Given the description of an element on the screen output the (x, y) to click on. 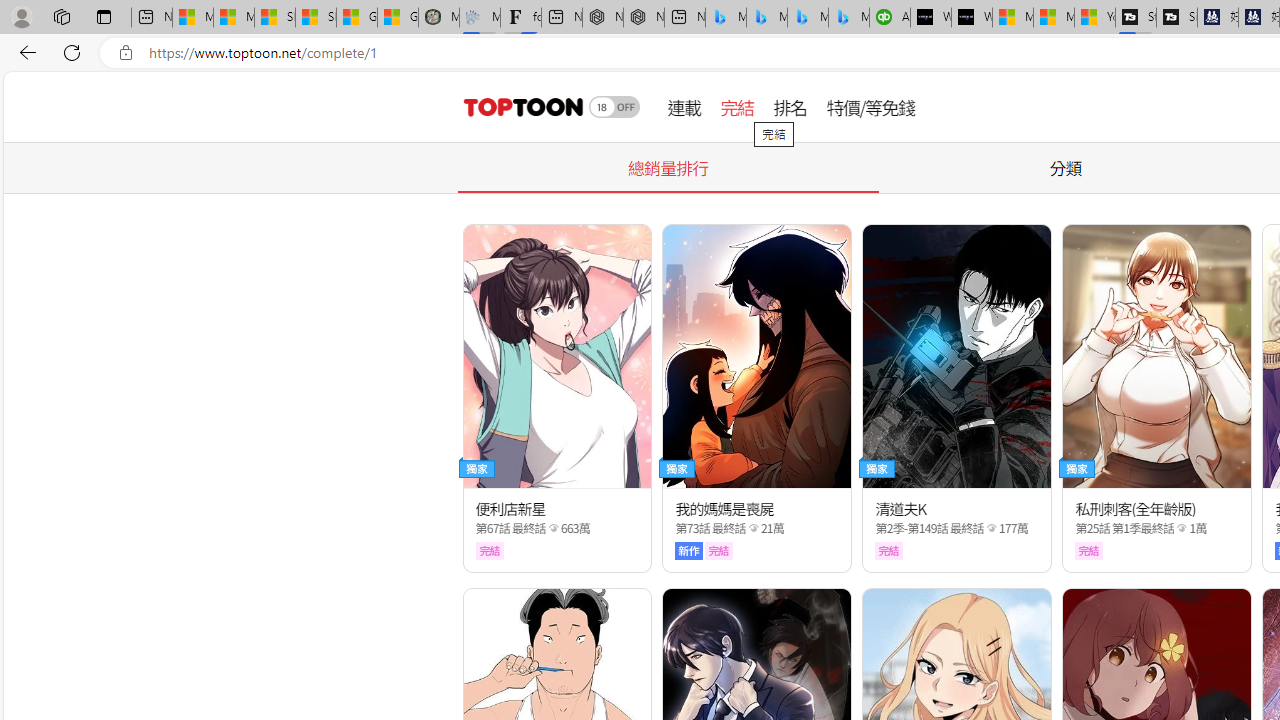
What's the best AI voice generator? - voice.ai (971, 17)
Microsoft Bing Travel - Stays in Bangkok, Bangkok, Thailand (767, 17)
Manatee Mortality Statistics | FWC (438, 17)
Microsoft Bing Travel - Shangri-La Hotel Bangkok (849, 17)
Class: thumb_img (1156, 356)
